Given the description of an element on the screen output the (x, y) to click on. 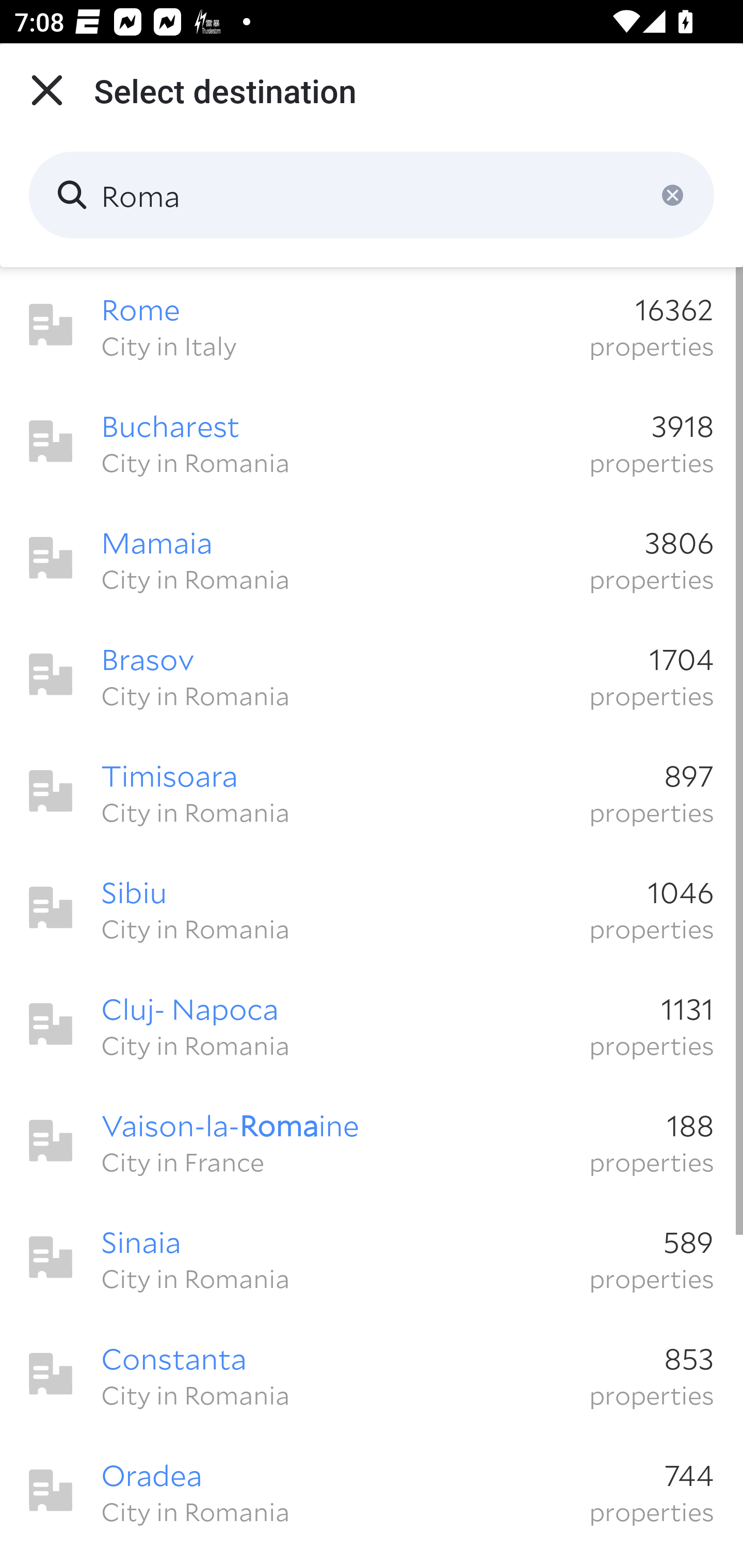
Roma (371, 195)
Rome 16362 City in Italy properties (371, 325)
Bucharest 3918 City in Romania properties (371, 442)
Mamaia 3806 City in Romania properties (371, 558)
Brasov 1704 City in Romania properties (371, 674)
Timisoara 897 City in Romania properties (371, 791)
Sibiu 1046 City in Romania properties (371, 907)
Cluj- Napoca 1131 City in Romania properties (371, 1024)
Vaison-la-Romaine 188 City in France properties (371, 1141)
Sinaia 589 City in Romania properties (371, 1257)
Constanta 853 City in Romania properties (371, 1374)
Oradea 744 City in Romania properties (371, 1491)
